Given the description of an element on the screen output the (x, y) to click on. 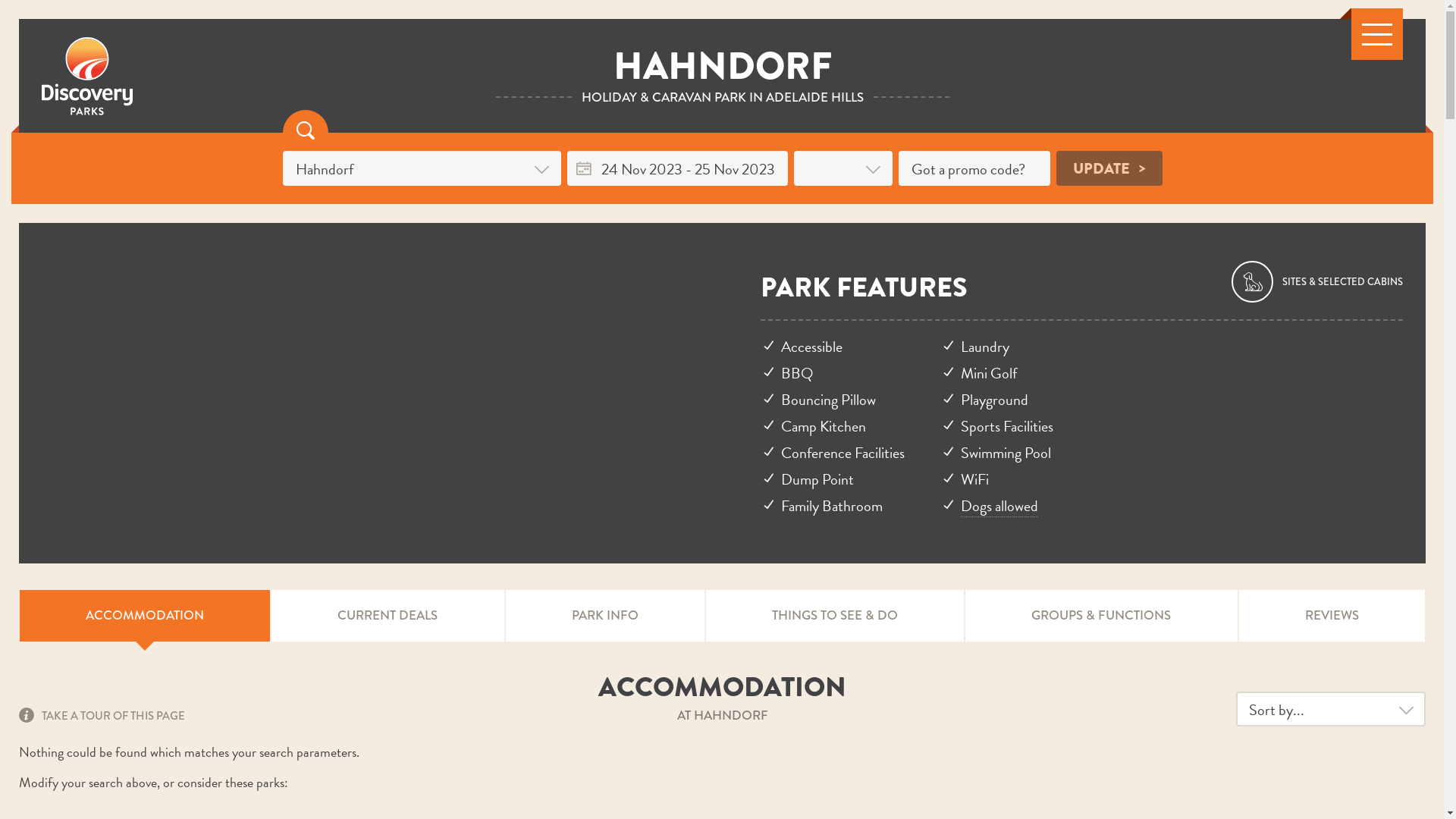
REVIEWS Element type: text (1331, 615)
PARK INFO Element type: text (604, 615)
ACCOMMODATION Element type: text (144, 615)
GROUPS & FUNCTIONS Element type: text (1100, 615)
THINGS TO SEE & DO Element type: text (834, 615)
UPDATE Element type: text (1108, 167)
CURRENT DEALS Element type: text (387, 615)
TAKE A TOUR OF THIS PAGE Element type: text (101, 714)
